Given the description of an element on the screen output the (x, y) to click on. 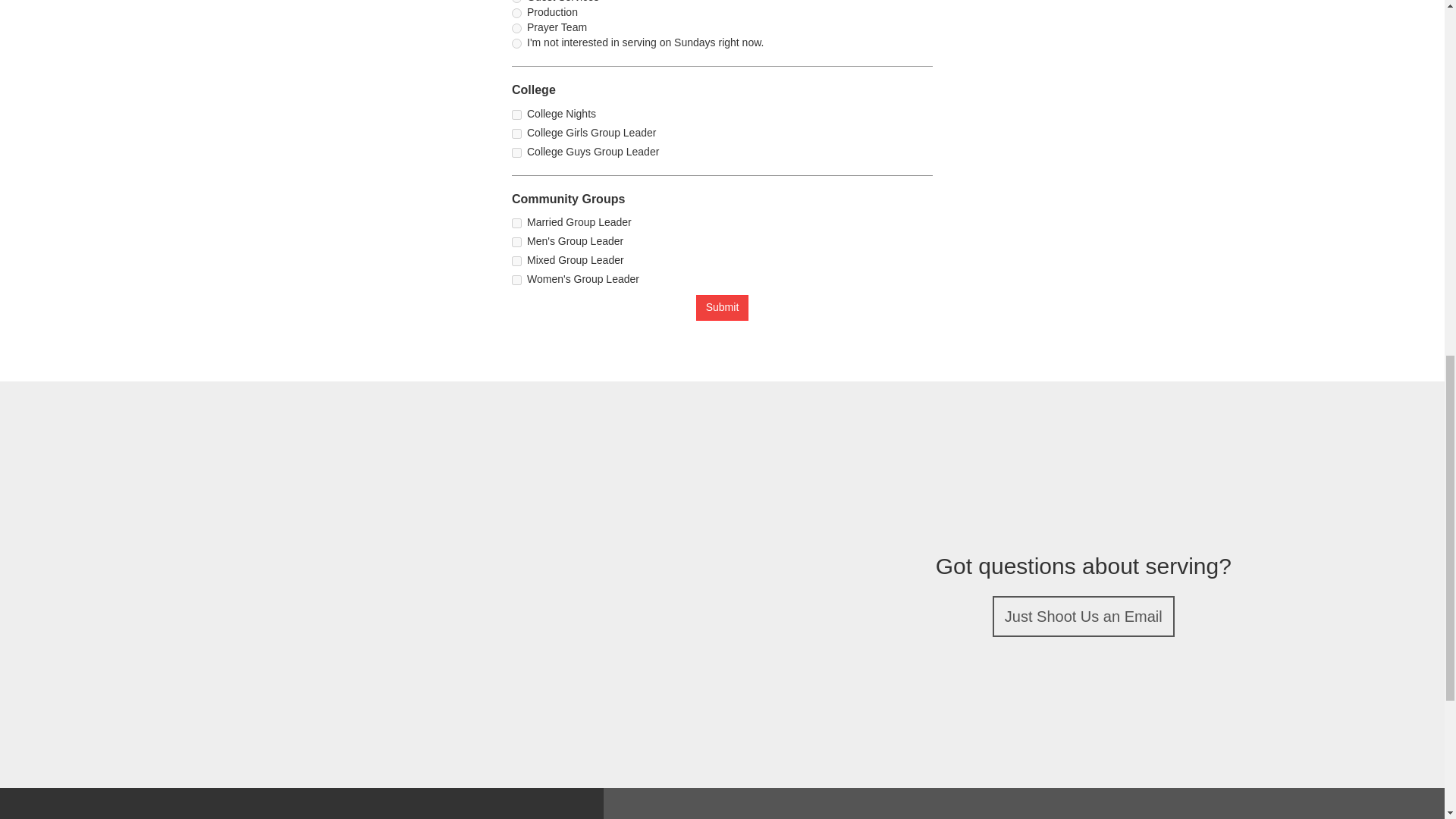
3 (516, 153)
8 (516, 13)
I'm not interested in serving on Sundays right now. (516, 43)
1 (516, 114)
Just Shoot Us an Email (1083, 616)
9 (516, 28)
3 (516, 261)
2 (516, 133)
Submit (722, 307)
